Given the description of an element on the screen output the (x, y) to click on. 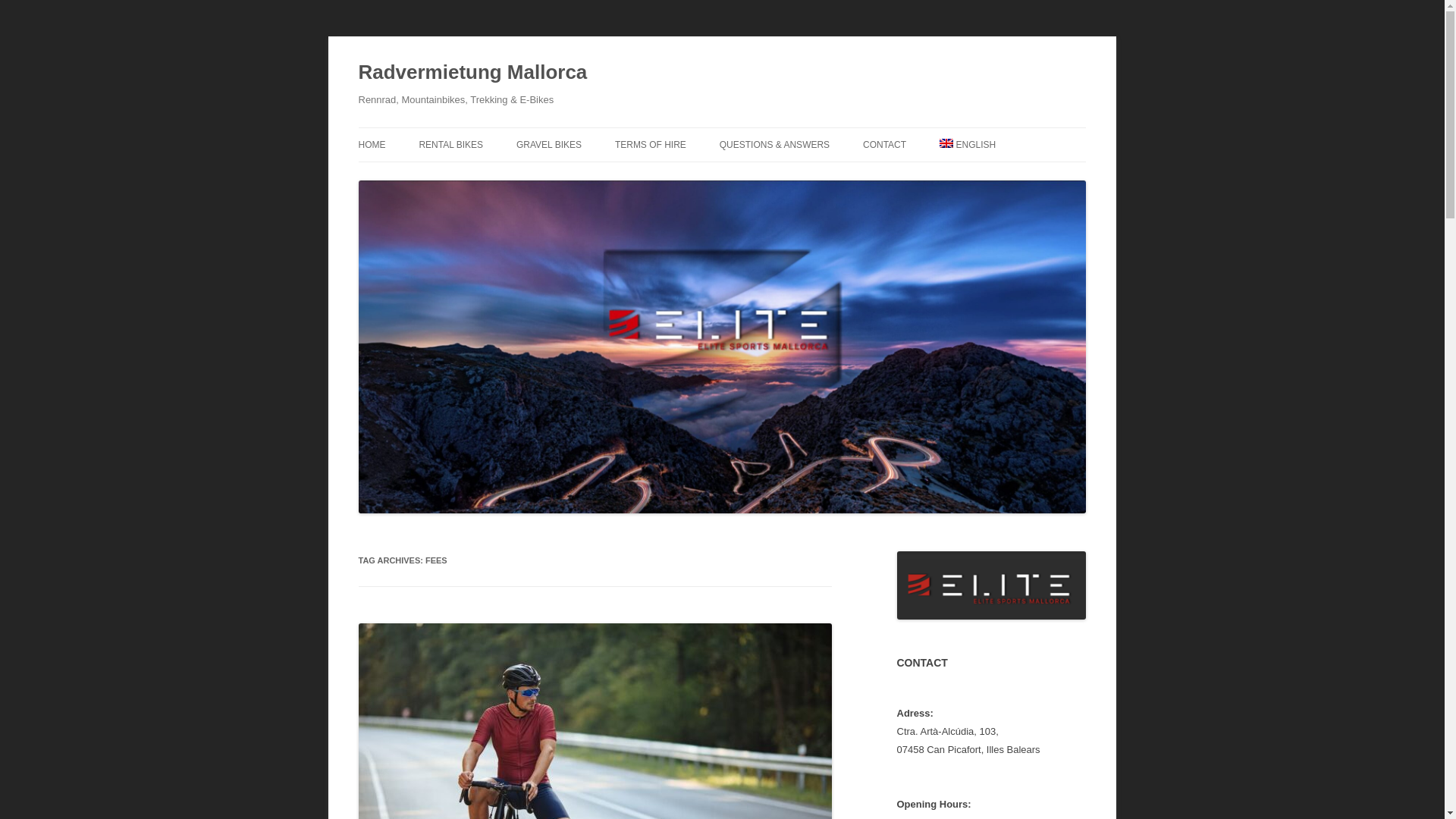
TERMS OF HIRE (649, 144)
ENGLISH (967, 144)
Radvermietung Mallorca (472, 72)
IMPRINT (938, 176)
RENTAL BIKES (451, 144)
GRAVEL BIKES (548, 144)
PLAYA DE PALMA BIKE RENTAL (494, 176)
CONTACT (884, 144)
HOME (371, 144)
English (967, 144)
